Given the description of an element on the screen output the (x, y) to click on. 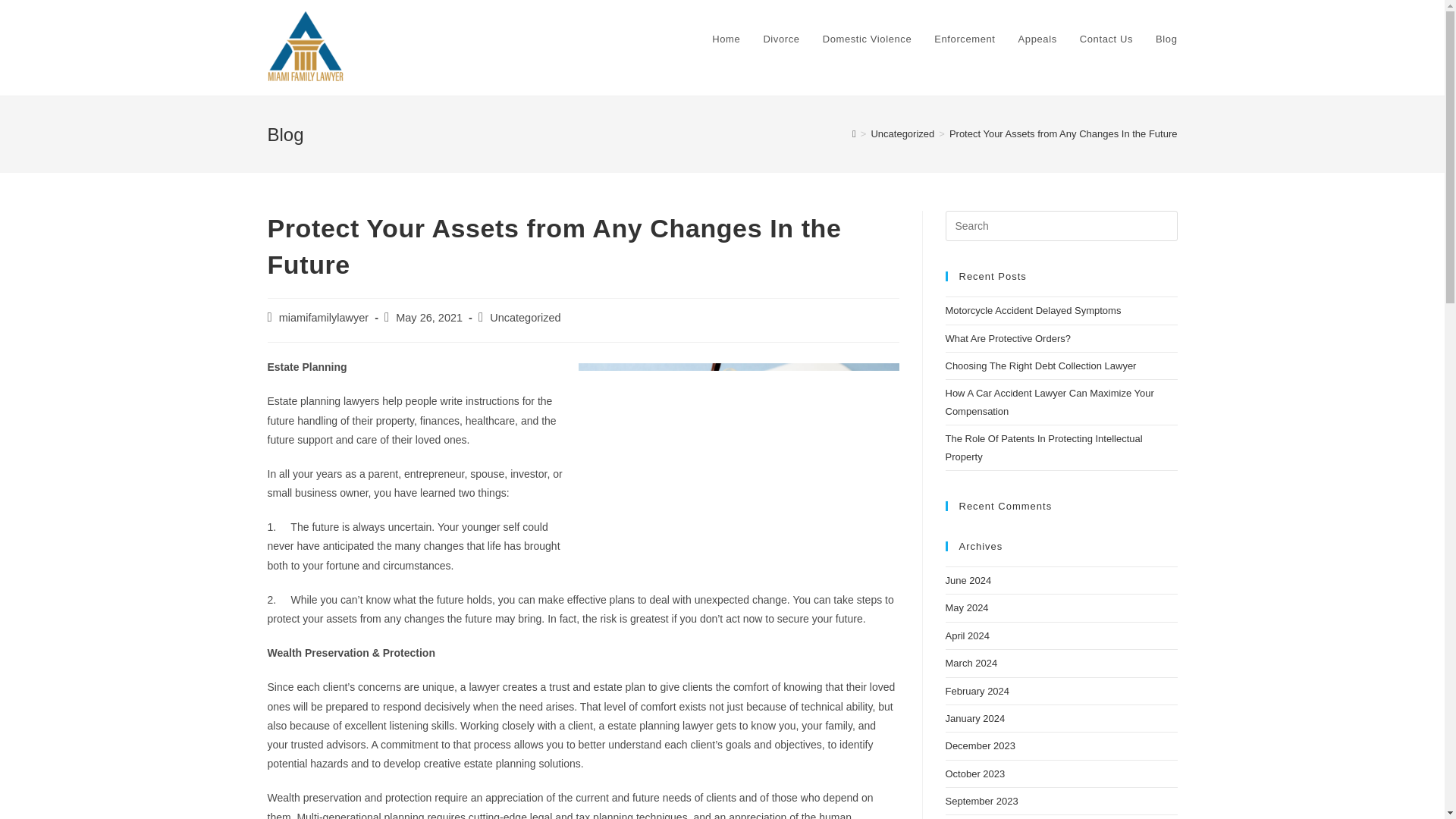
Home (725, 39)
October 2023 (974, 773)
Appeals (1037, 39)
Motorcycle Accident Delayed Symptoms (1032, 310)
Domestic Violence (866, 39)
Contact Us (1106, 39)
January 2024 (974, 717)
Divorce (780, 39)
Protect Your Assets from Any Changes In the Future (1063, 133)
February 2024 (976, 690)
